Given the description of an element on the screen output the (x, y) to click on. 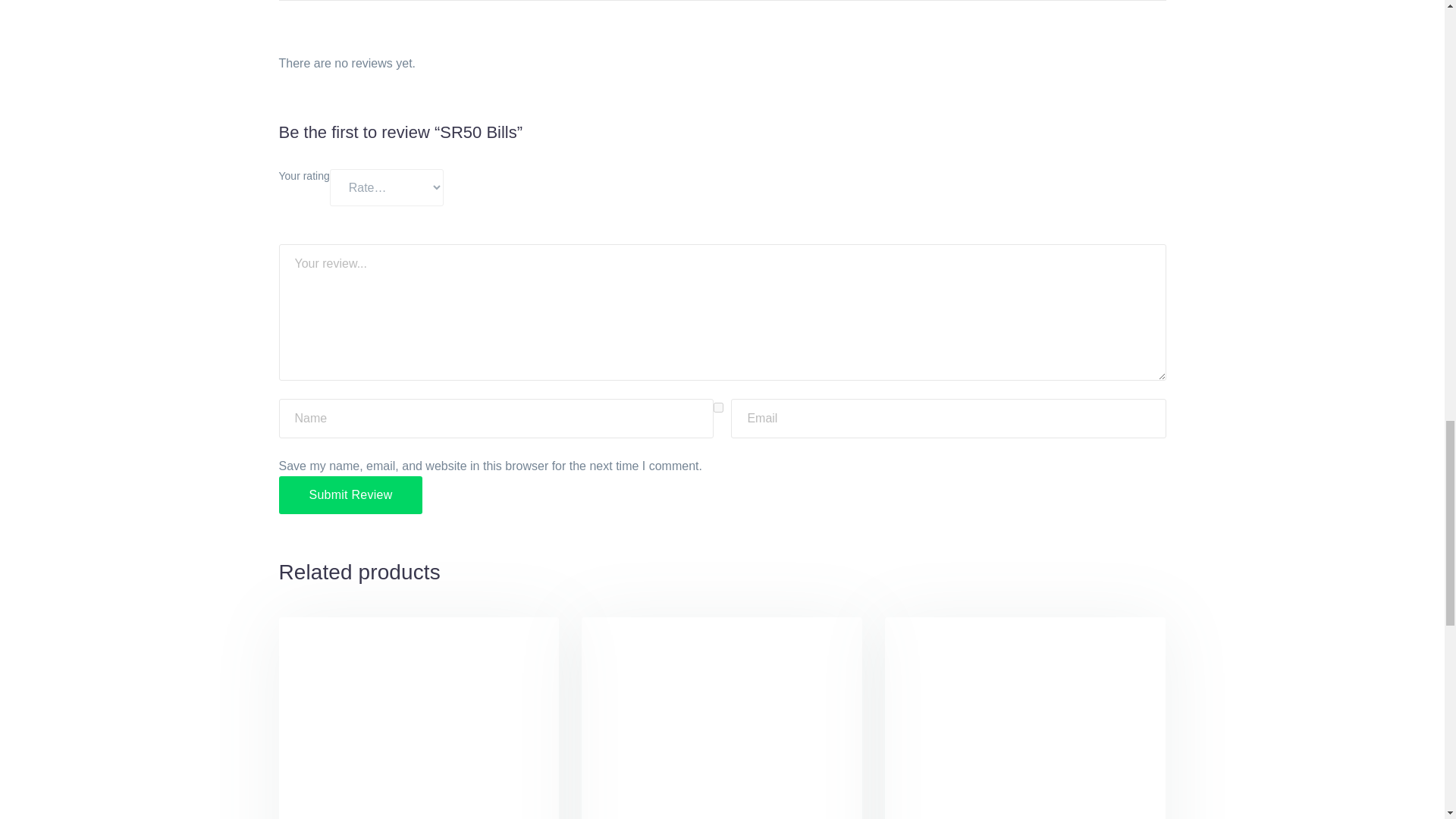
Submit Review (351, 494)
yes (718, 407)
